Given the description of an element on the screen output the (x, y) to click on. 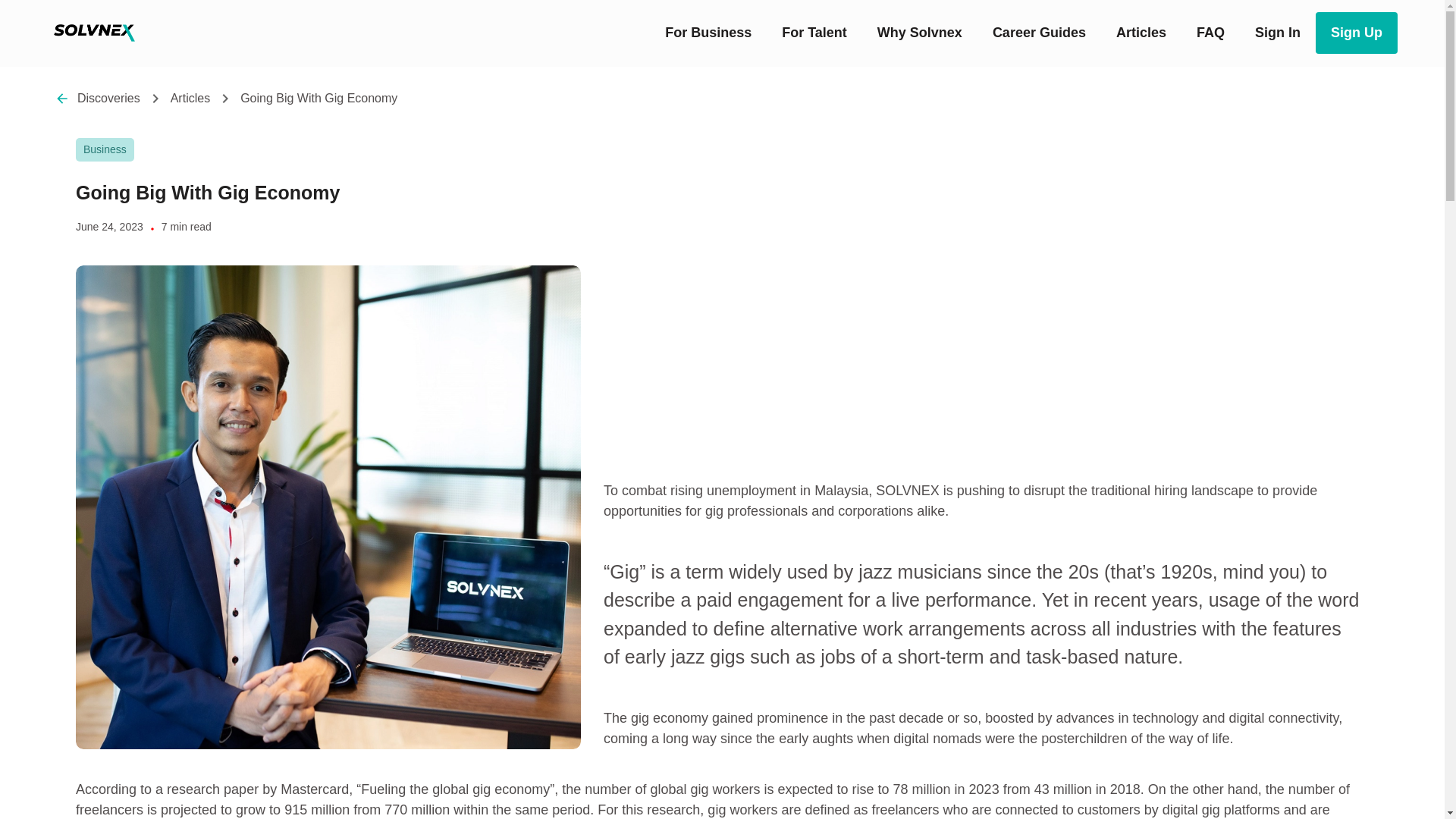
For Talent (814, 33)
Sign In (1278, 33)
Career Guides (1038, 33)
Articles (1140, 33)
Why Solvnex (918, 33)
FAQ (1210, 33)
Sign Up (1356, 33)
For Business (708, 33)
